Given the description of an element on the screen output the (x, y) to click on. 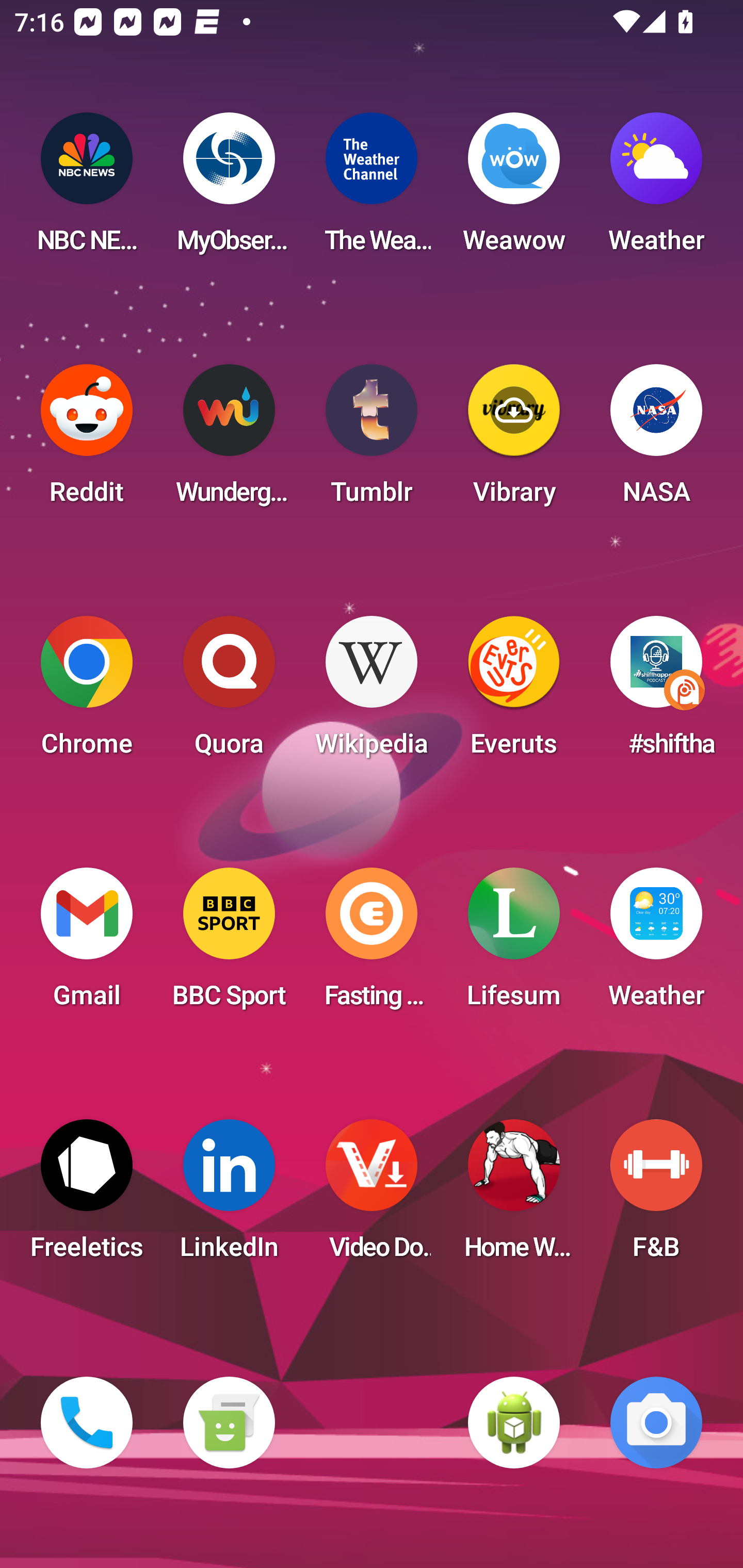
NBC NEWS (86, 188)
MyObservatory (228, 188)
The Weather Channel (371, 188)
Weawow (513, 188)
Weather (656, 188)
Reddit (86, 440)
Wunderground (228, 440)
Tumblr (371, 440)
Vibrary (513, 440)
NASA (656, 440)
Chrome (86, 692)
Quora (228, 692)
Wikipedia (371, 692)
Everuts (513, 692)
#shifthappens in the Digital Workplace Podcast (656, 692)
Gmail (86, 943)
BBC Sport (228, 943)
Fasting Coach (371, 943)
Lifesum (513, 943)
Weather (656, 943)
Freeletics (86, 1195)
LinkedIn (228, 1195)
Video Downloader & Ace Player (371, 1195)
Home Workout (513, 1195)
F&B (656, 1195)
Phone (86, 1422)
Messaging (228, 1422)
WebView Browser Tester (513, 1422)
Camera (656, 1422)
